Given the description of an element on the screen output the (x, y) to click on. 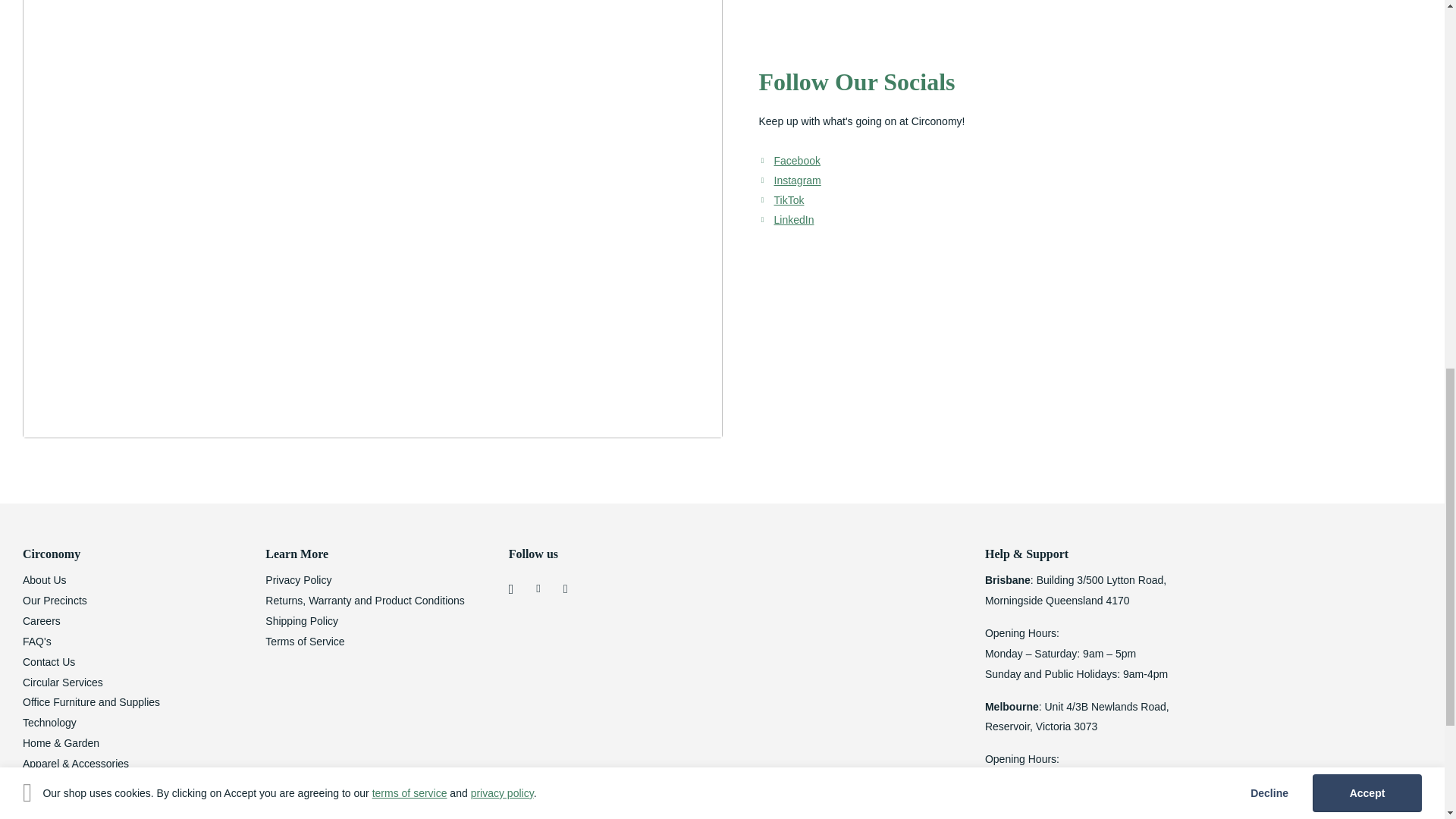
Linkedin (793, 219)
Our Precincts (55, 600)
Circular Services (63, 682)
Blog (33, 804)
Contact Us (49, 662)
Returns, Warranty and Product Conditions (364, 600)
Shipping Policy (300, 621)
Technology (50, 722)
Office Furniture and Supplies (91, 702)
Facebook (796, 160)
FAQ's (36, 641)
Privacy Policy (297, 580)
Careers (42, 621)
TikTok (788, 200)
Instagram (797, 180)
